Given the description of an element on the screen output the (x, y) to click on. 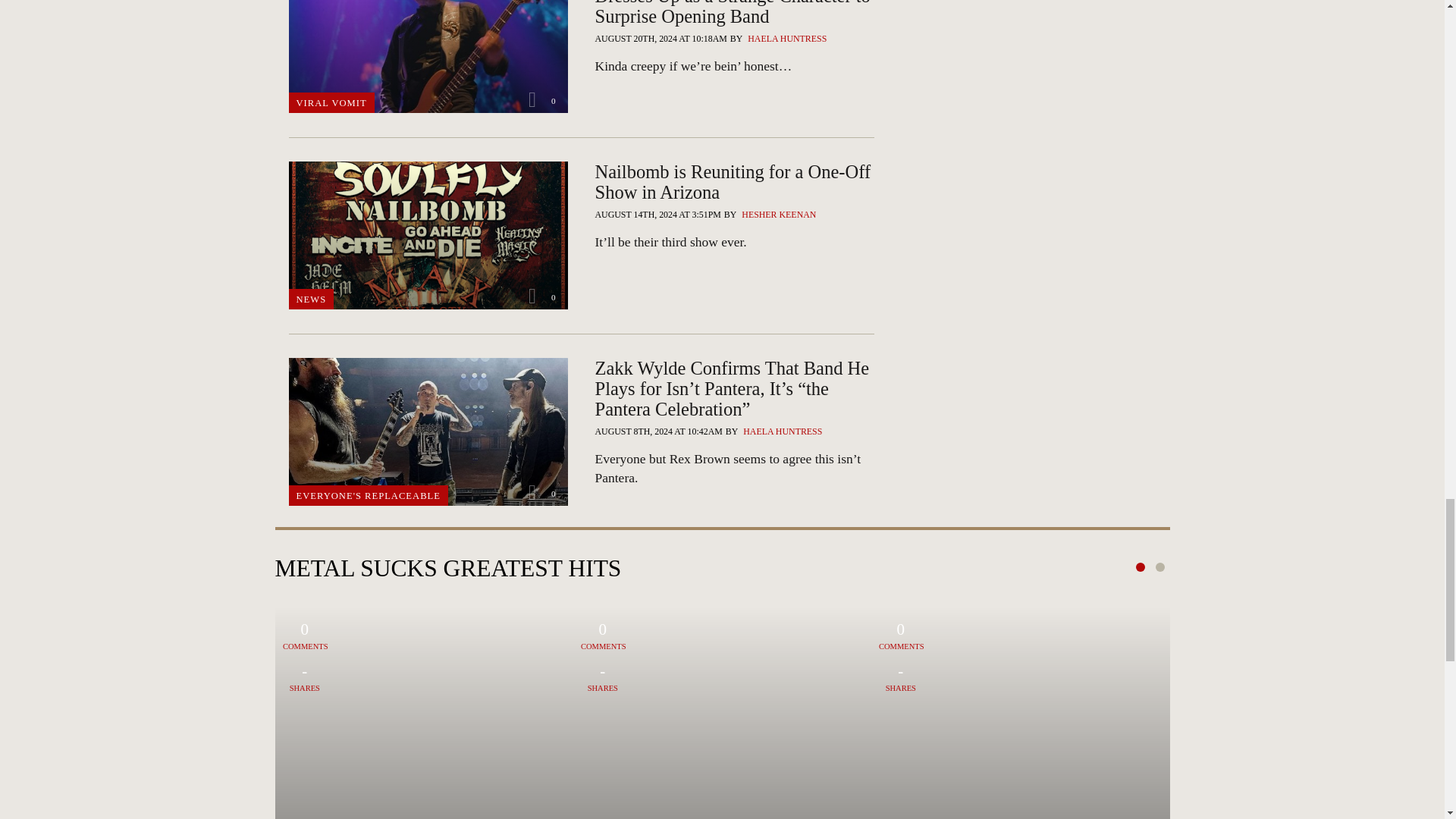
Nailbomb is Reuniting for a One-Off Show in Arizona (733, 241)
